Given the description of an element on the screen output the (x, y) to click on. 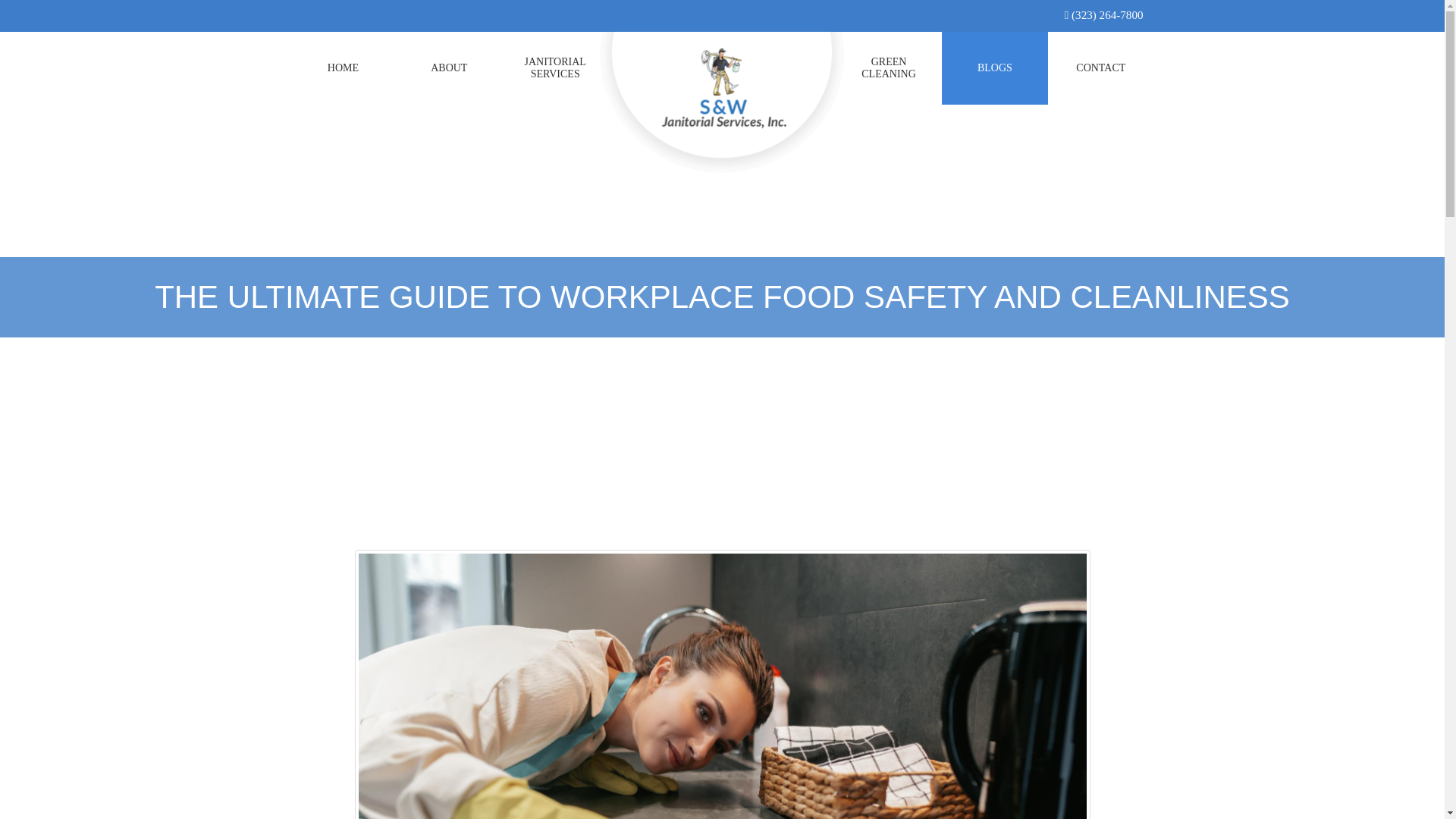
Green Cleaning (888, 68)
HOME (342, 68)
CONTACT (1101, 68)
Blogs (995, 68)
Home (449, 68)
Contact Us (1101, 68)
BLOGS (888, 68)
Janitorial Services (995, 68)
Home (555, 68)
